Given the description of an element on the screen output the (x, y) to click on. 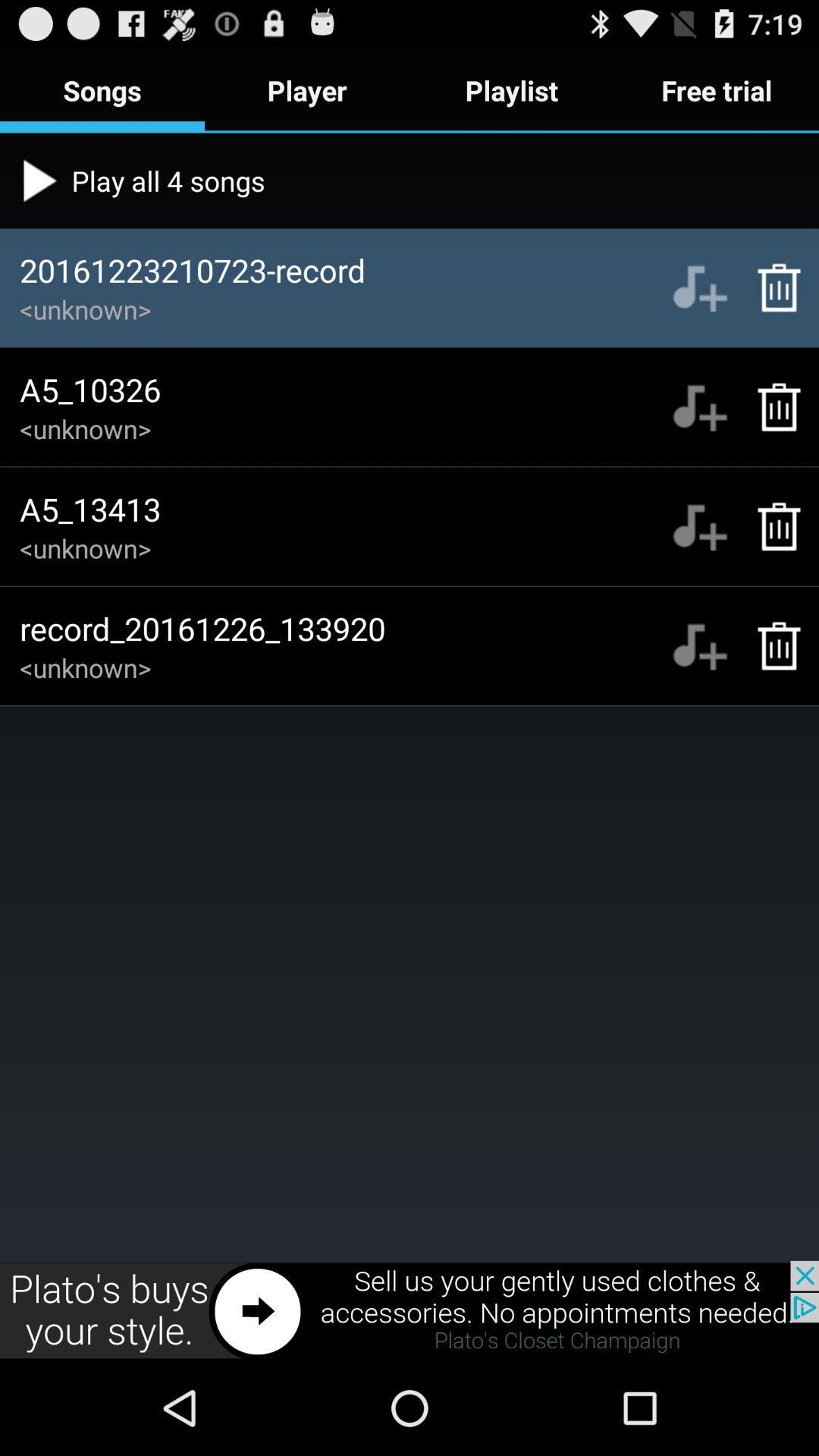
toggle autoplay option (699, 287)
